Given the description of an element on the screen output the (x, y) to click on. 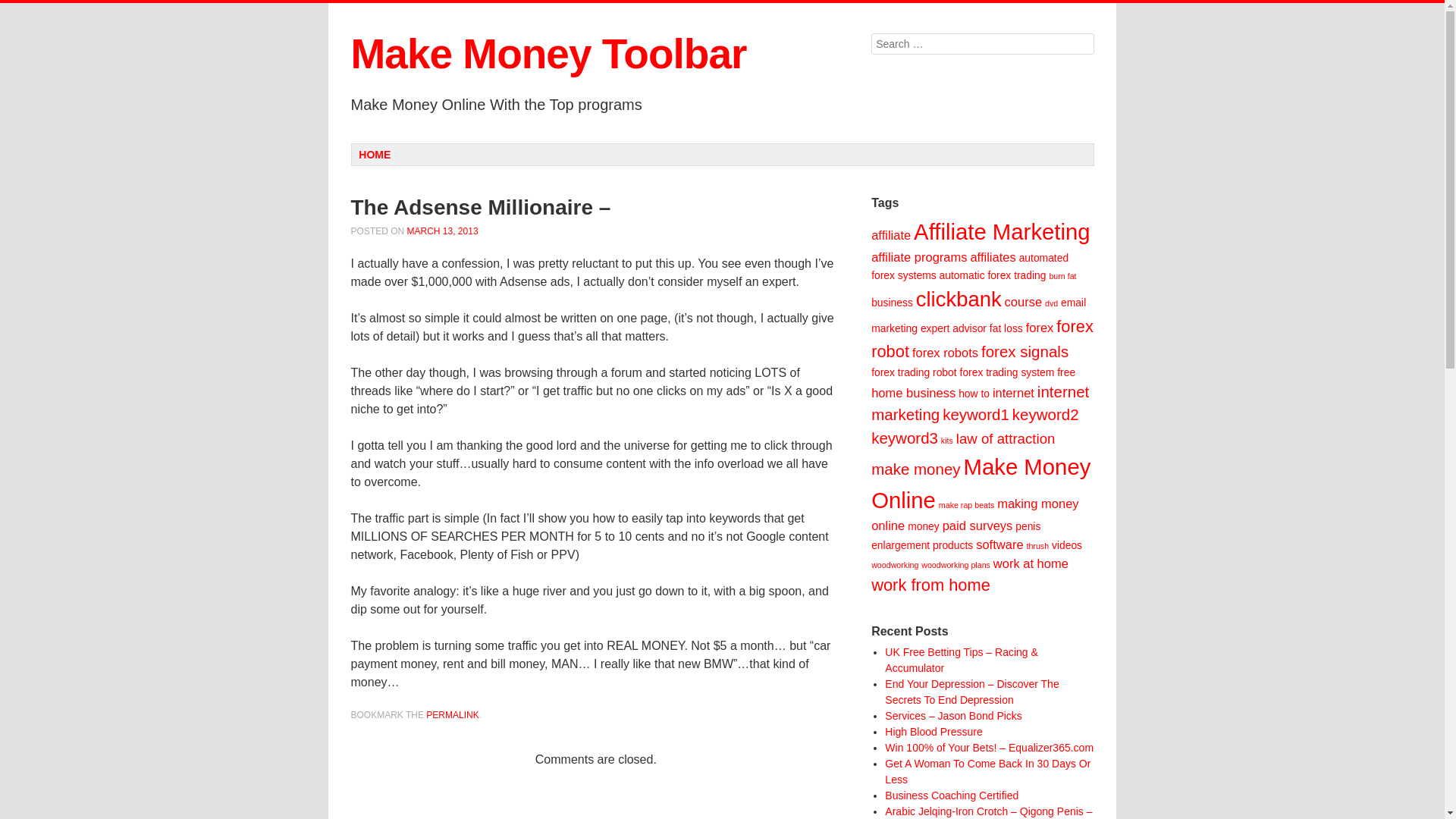
clickbank (958, 299)
burn fat (1061, 275)
affiliates (991, 257)
course (1023, 301)
internet marketing (979, 403)
dvd (1051, 302)
law of attraction (1005, 438)
kits (946, 440)
automatic forex trading (992, 275)
Affiliate Marketing (1002, 231)
3:36 pm (443, 231)
forex robot (981, 338)
fat loss (1006, 328)
MARCH 13, 2013 (443, 231)
Search (22, 9)
